Given the description of an element on the screen output the (x, y) to click on. 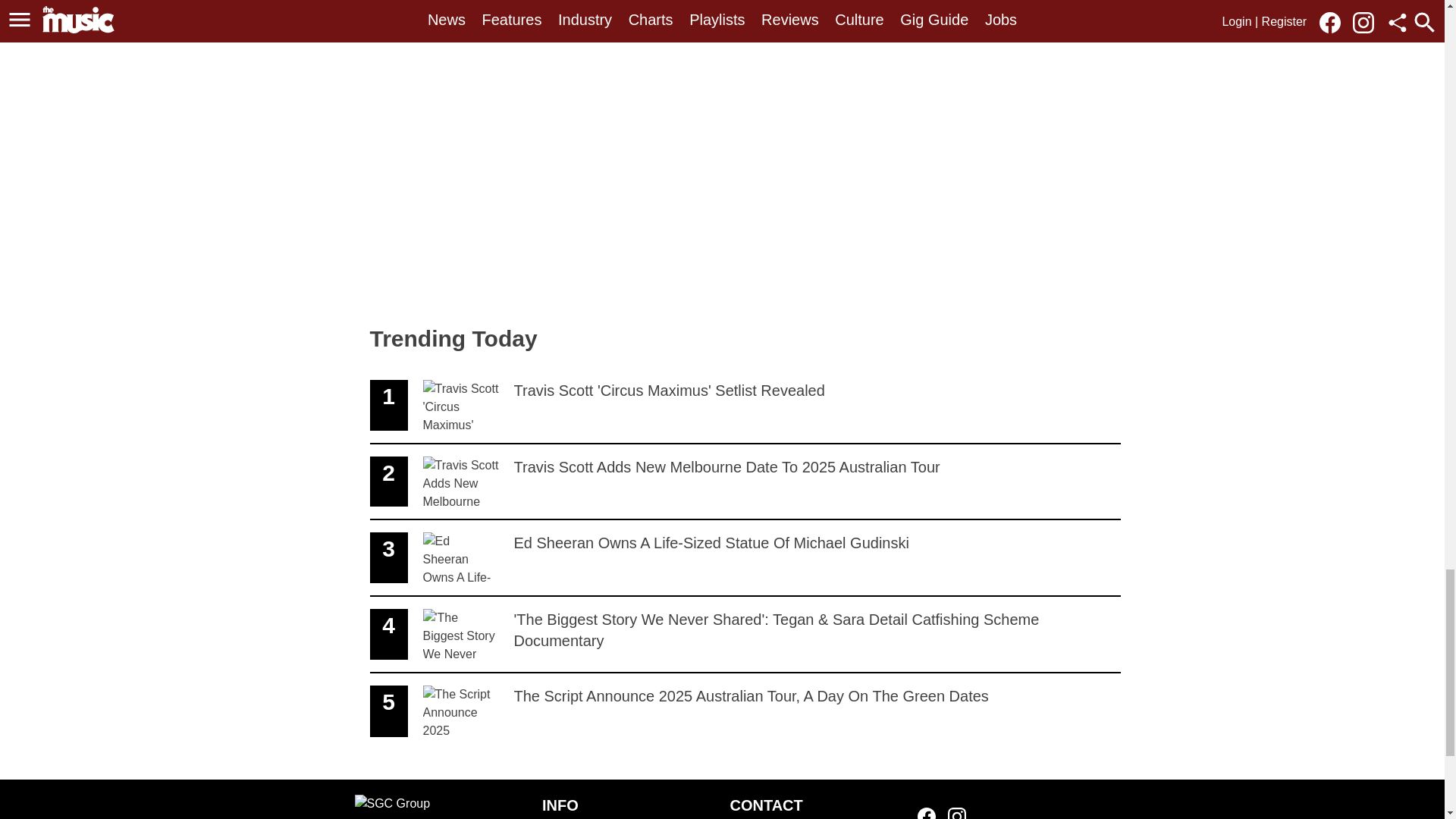
Spotify Embed: The Fear of Fear (588, 164)
Link to our Instagram (745, 405)
Link to our Facebook (956, 813)
here (745, 558)
Link to our Facebook (926, 813)
